Given the description of an element on the screen output the (x, y) to click on. 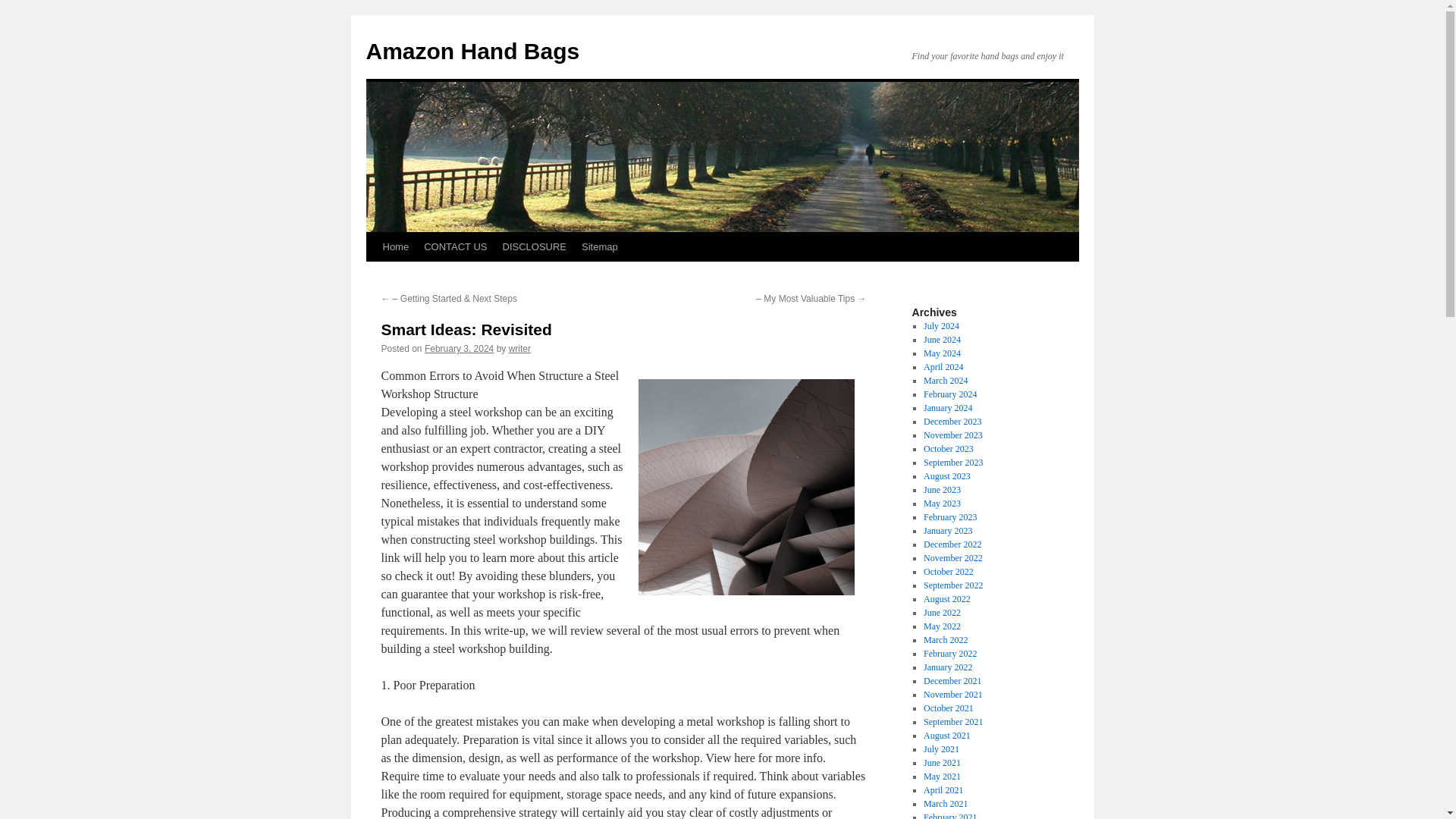
DISCLOSURE (534, 246)
September 2022 (952, 584)
Skip to content (372, 274)
February 3, 2024 (459, 348)
View all posts by writer (519, 348)
July 2024 (941, 326)
February 2023 (949, 516)
March 2022 (945, 639)
August 2023 (947, 475)
writer (519, 348)
Home (395, 246)
June 2024 (941, 339)
May 2023 (941, 502)
November 2022 (952, 557)
September 2023 (952, 462)
